Given the description of an element on the screen output the (x, y) to click on. 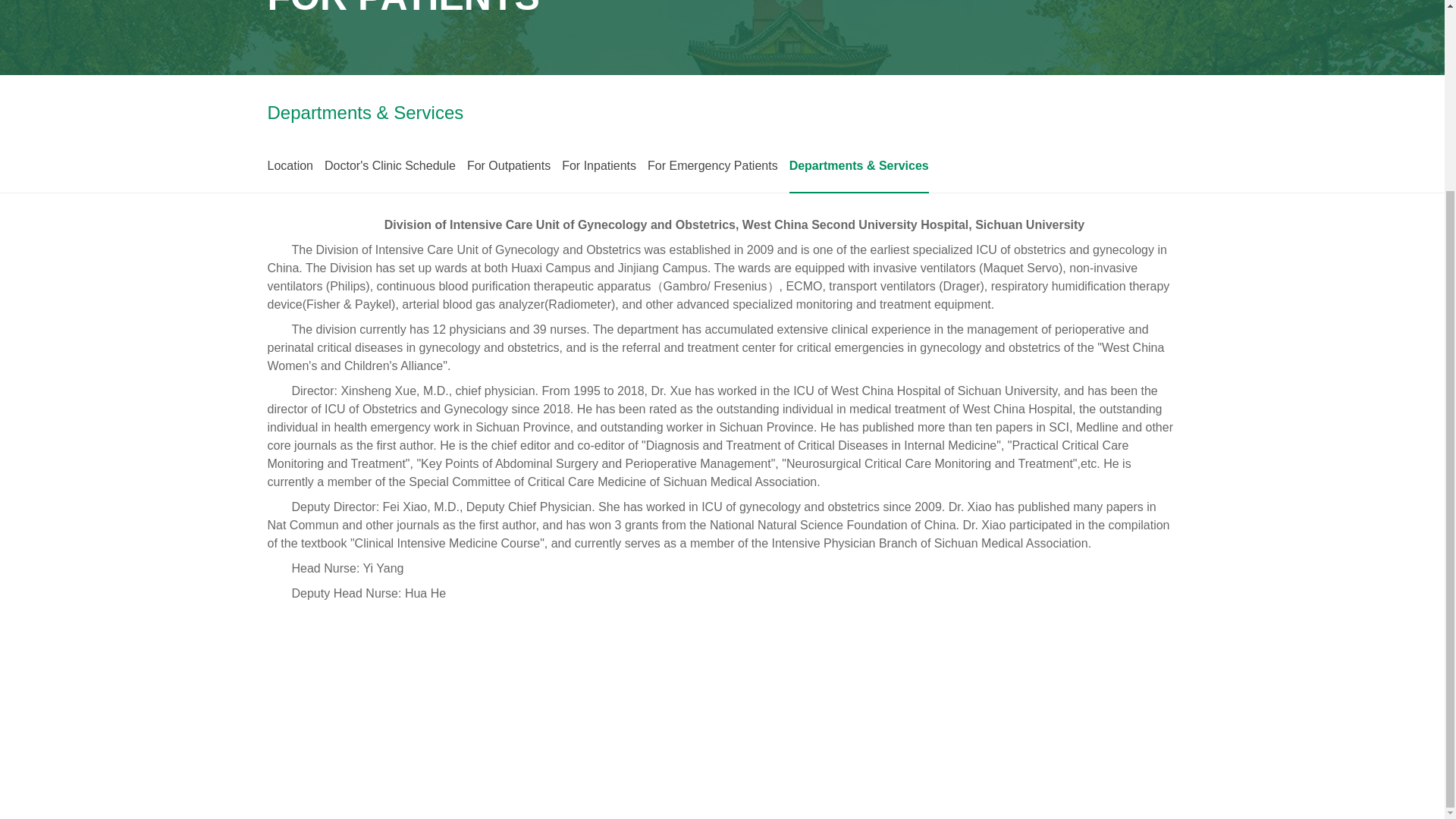
For Inpatients (599, 165)
For Outpatients (508, 165)
For Emergency Patients (712, 165)
Doctor's Clinic Schedule (389, 165)
